Given the description of an element on the screen output the (x, y) to click on. 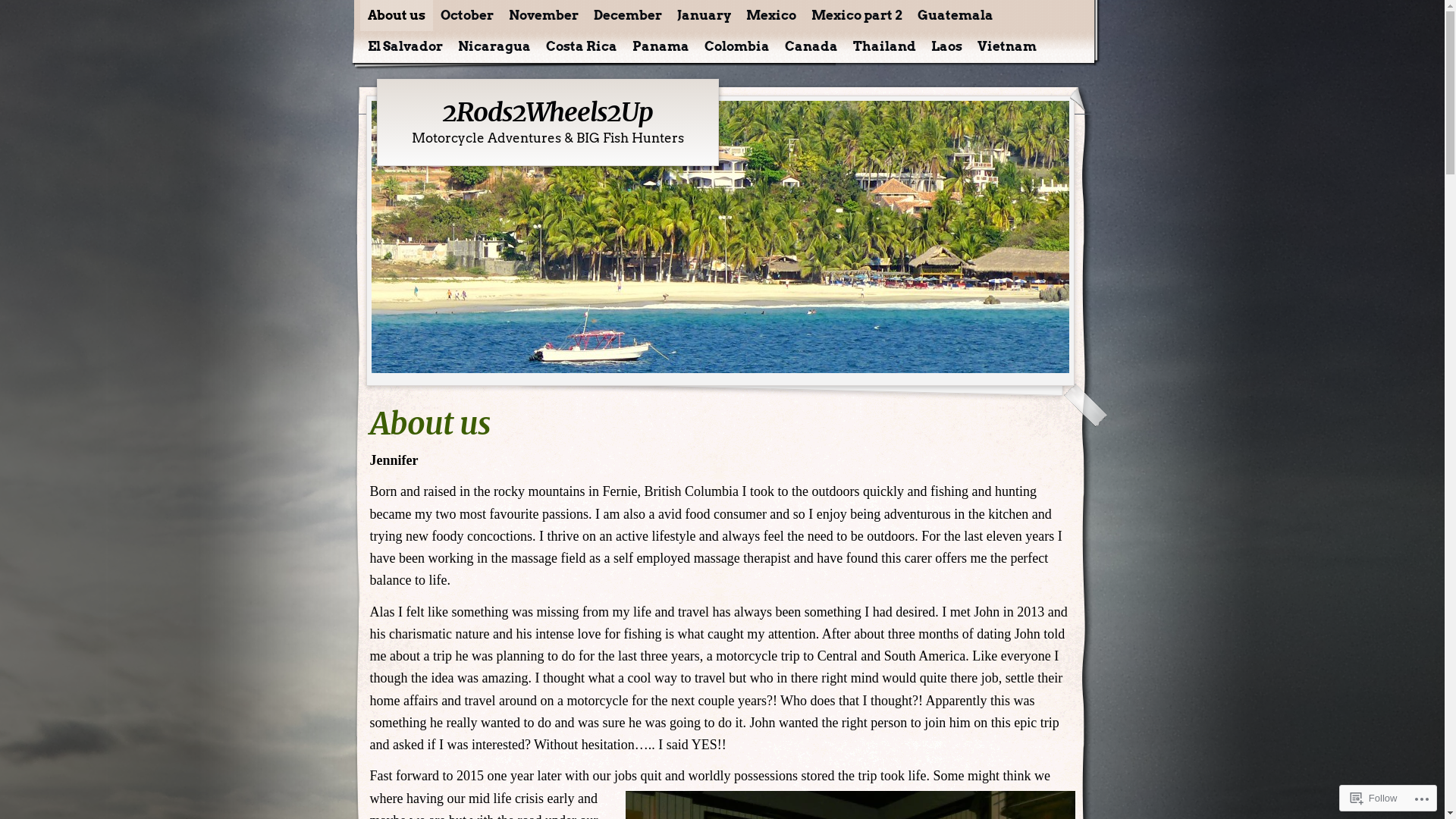
Laos Element type: text (946, 46)
2Rods2Wheels2Up Element type: text (547, 112)
Nicaragua Element type: text (494, 46)
Costa Rica Element type: text (581, 46)
Canada Element type: text (810, 46)
November Element type: text (542, 15)
About us Element type: text (395, 15)
October Element type: text (466, 15)
December Element type: text (626, 15)
Guatemala Element type: text (955, 15)
Colombia Element type: text (736, 46)
Vietnam Element type: text (1006, 46)
Follow Element type: text (1373, 797)
Mexico Element type: text (770, 15)
Thailand Element type: text (883, 46)
Mexico part 2 Element type: text (856, 15)
Panama Element type: text (660, 46)
January Element type: text (702, 15)
El Salvador Element type: text (404, 46)
